Given the description of an element on the screen output the (x, y) to click on. 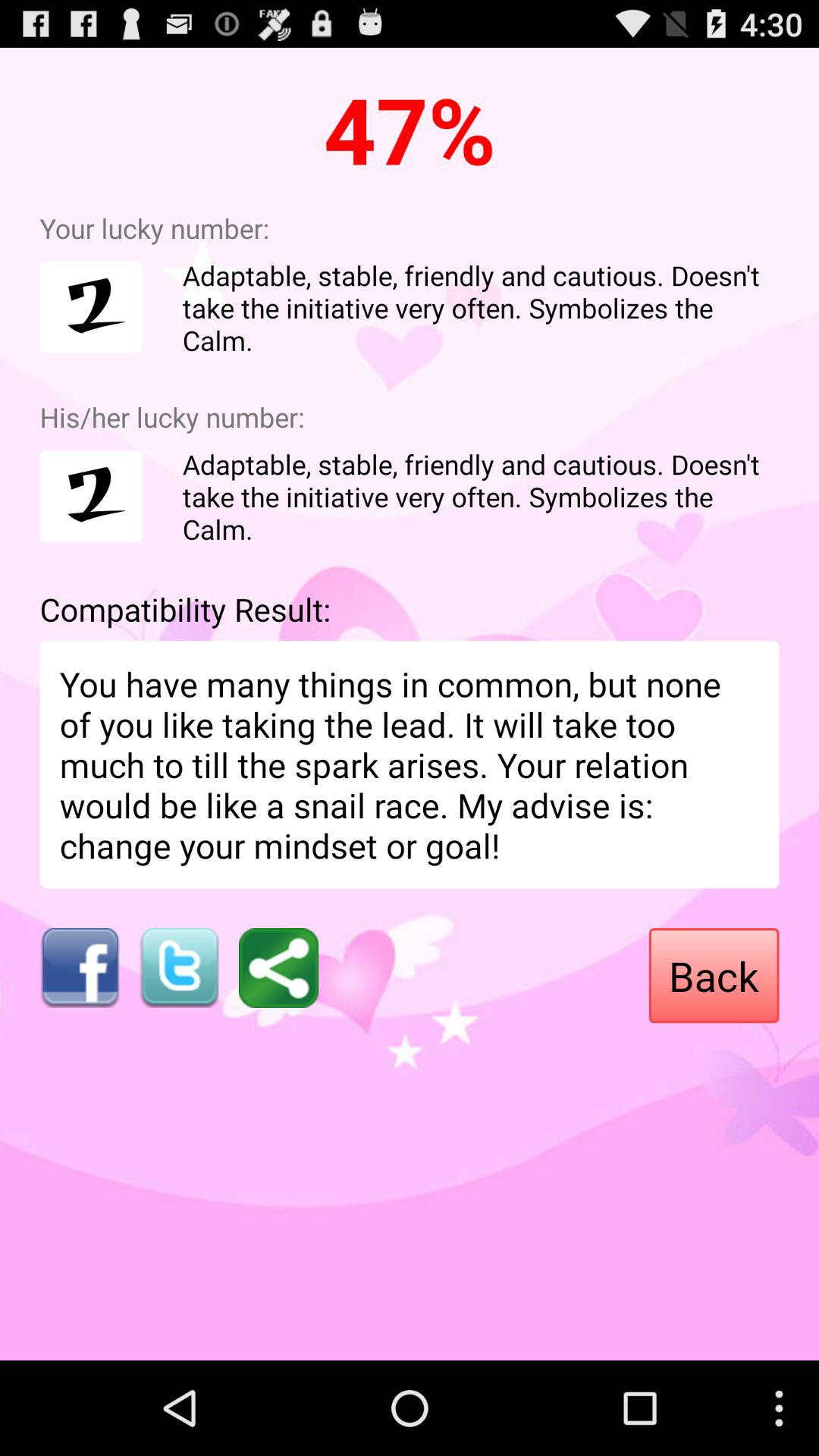
go to twitter page (178, 967)
